Given the description of an element on the screen output the (x, y) to click on. 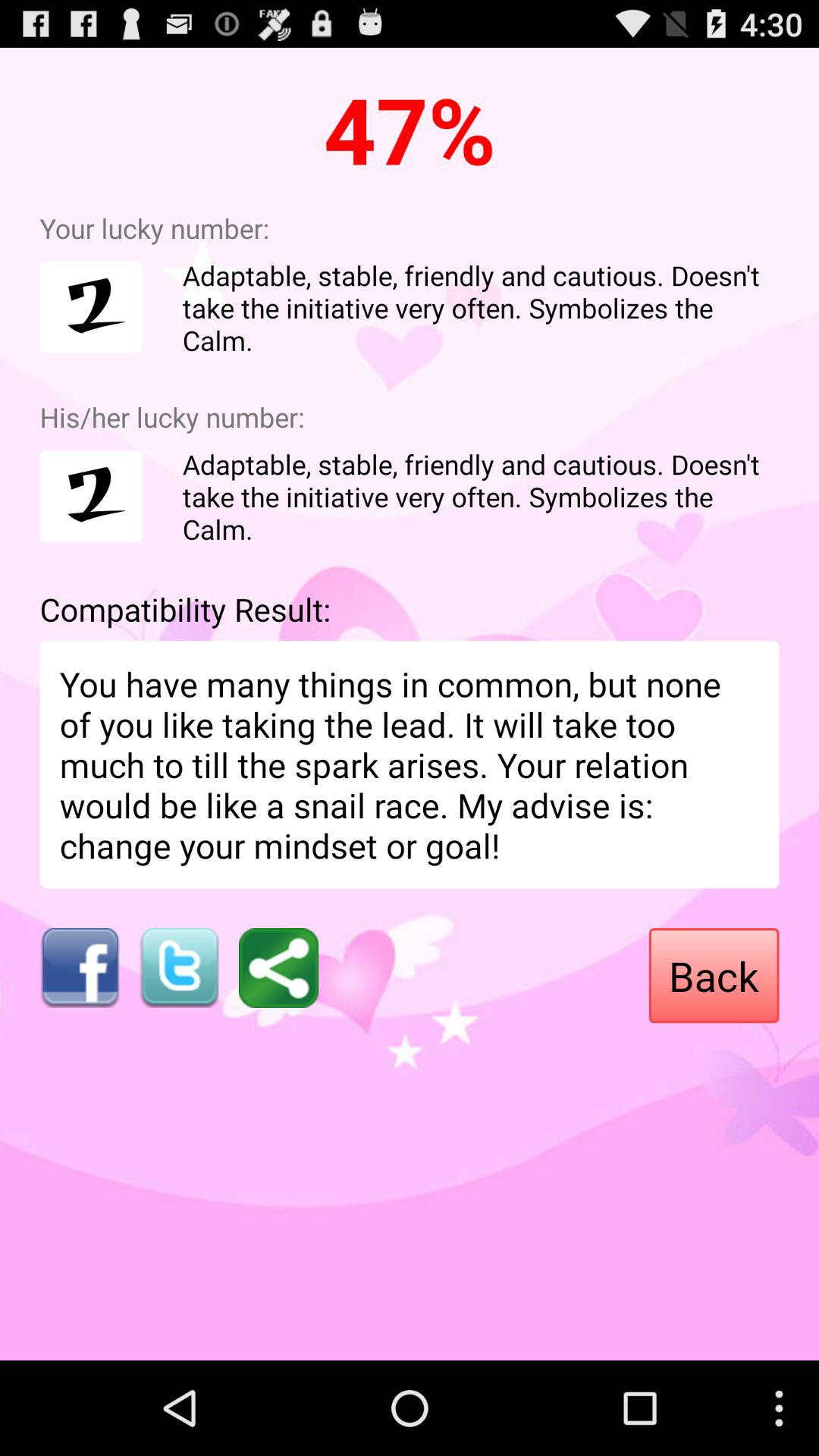
go to twitter page (178, 967)
